Given the description of an element on the screen output the (x, y) to click on. 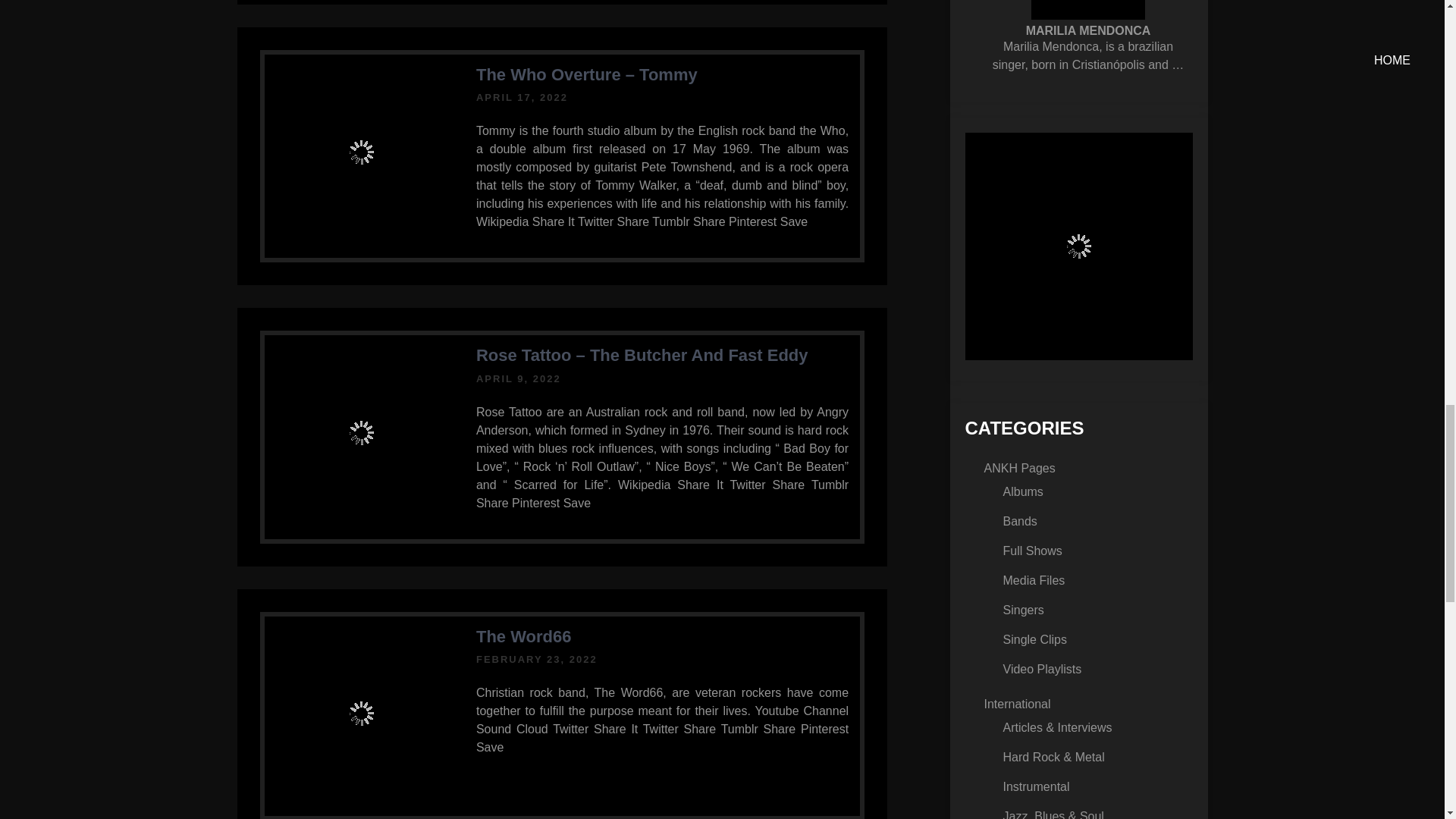
From The Who Gallery (362, 151)
From Tattoo Rose Gallery (362, 432)
From Marilia Mendonca Gallery (1087, 9)
The Word66 (524, 636)
Amazing Tattoos by Nahemah (1077, 246)
From The Word66 Gallery (362, 713)
